Given the description of an element on the screen output the (x, y) to click on. 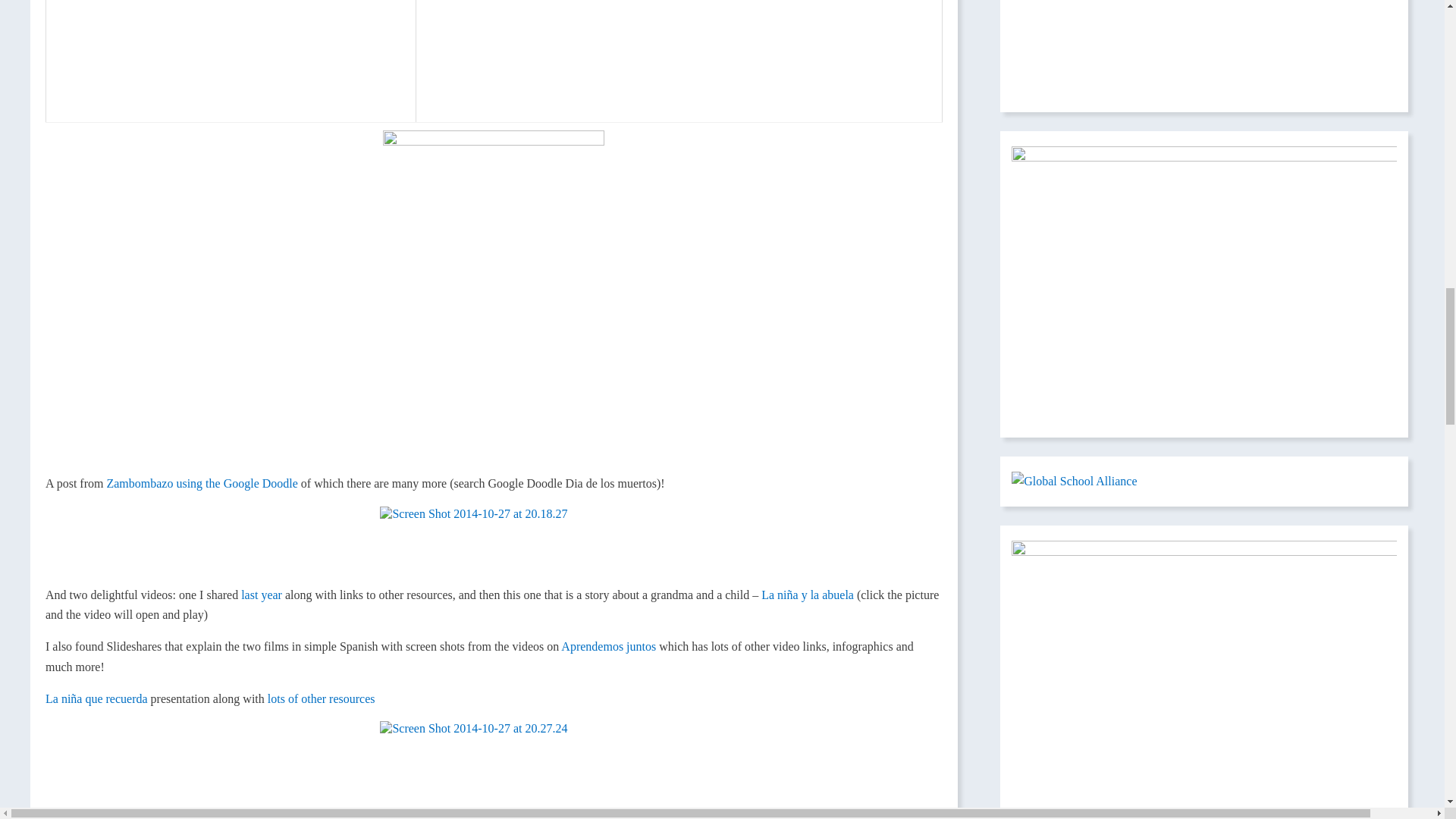
last year (261, 594)
Zambombazo using the Google Doodle (201, 482)
Aprendemos juntos (608, 645)
lots of other resources (321, 698)
